Given the description of an element on the screen output the (x, y) to click on. 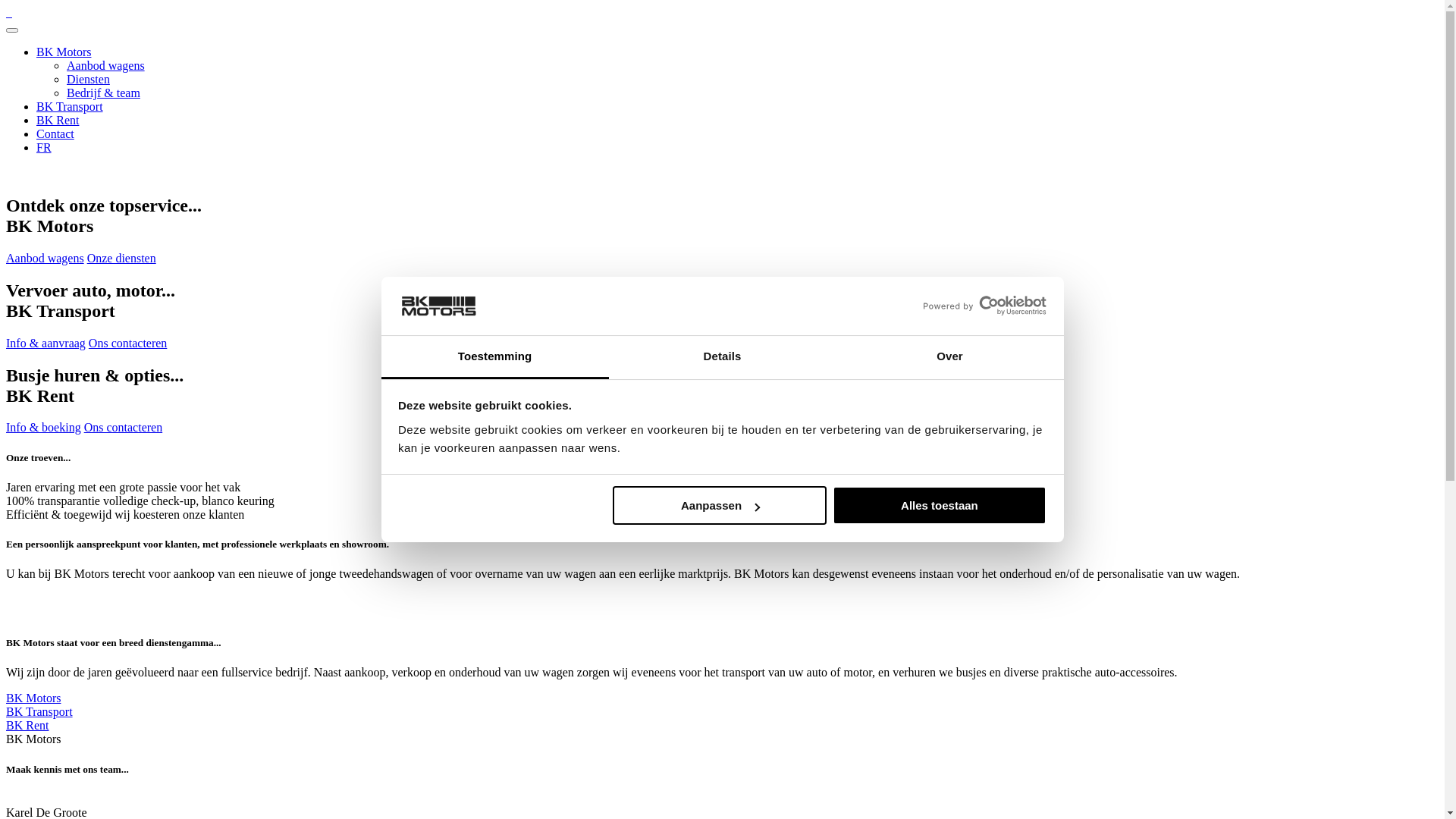
Toestemming Element type: text (494, 357)
Onze diensten Element type: text (121, 257)
Aanpassen Element type: text (719, 505)
Ons contacteren Element type: text (123, 426)
BK Rent Element type: text (57, 119)
BK Transport Element type: text (69, 106)
FR Element type: text (43, 147)
Over Element type: text (949, 357)
Info & boeking Element type: text (43, 426)
BK Transport Element type: text (39, 711)
BK Rent Element type: text (27, 724)
Aanbod wagens Element type: text (45, 257)
BK Motors Element type: text (33, 697)
BK Motors Element type: text (63, 51)
Ons contacteren Element type: text (127, 342)
Info & aanvraag Element type: text (45, 342)
Bedrijf & team Element type: text (103, 92)
Contact Element type: text (55, 133)
Aanbod wagens Element type: text (105, 65)
Diensten Element type: text (87, 78)
Details Element type: text (721, 357)
Alles toestaan Element type: text (939, 505)
